Given the description of an element on the screen output the (x, y) to click on. 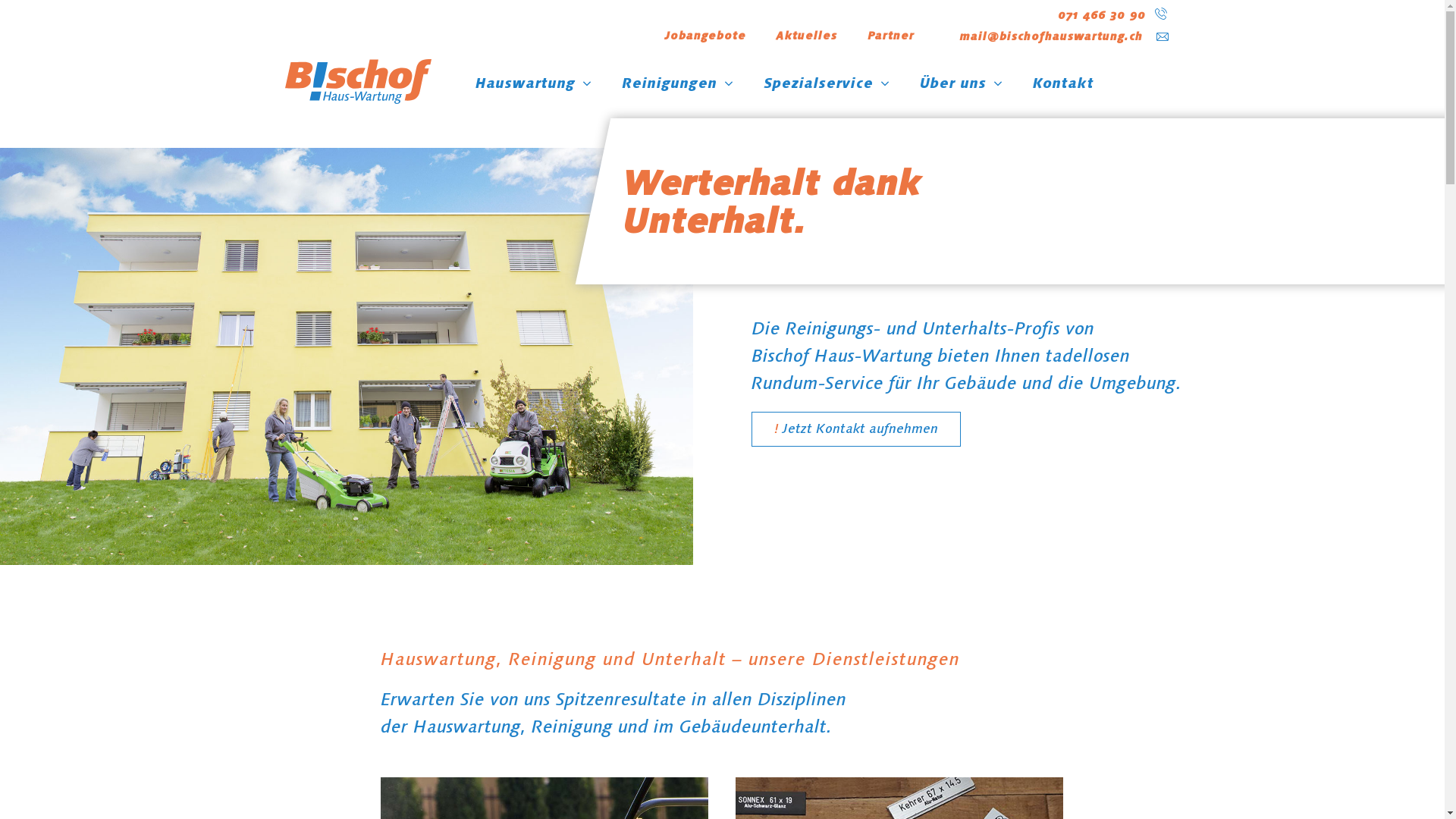
Jobangebote Element type: text (705, 36)
Reinigungen Element type: text (677, 88)
mail@bischofhauswartung.ch Element type: text (1051, 36)
Kontakt Element type: text (1063, 88)
Spezialservice Element type: text (826, 88)
071 466 30 90 Element type: text (1101, 14)
Aktuelles Element type: text (806, 36)
Partner Element type: text (890, 36)
Jetzt Kontakt aufnehmen Element type: text (855, 428)
Hauswartung Element type: text (533, 88)
